Given the description of an element on the screen output the (x, y) to click on. 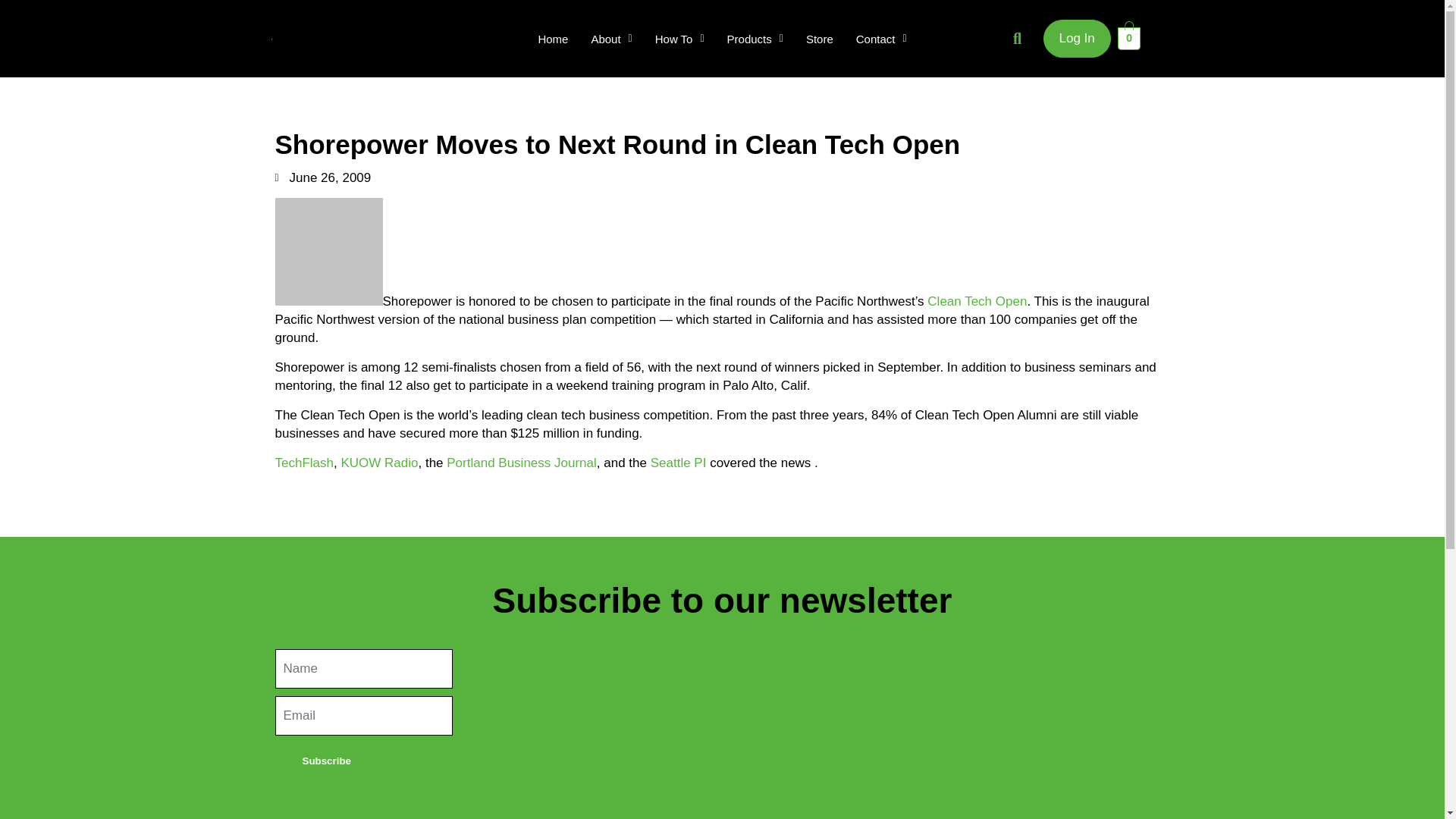
Products (755, 38)
Subscribe (326, 760)
Home (552, 38)
View your shopping cart (1129, 37)
About (611, 38)
Log In (1076, 38)
0 (1129, 37)
cleantechopen (328, 251)
Contact (881, 38)
Store (819, 38)
